Given the description of an element on the screen output the (x, y) to click on. 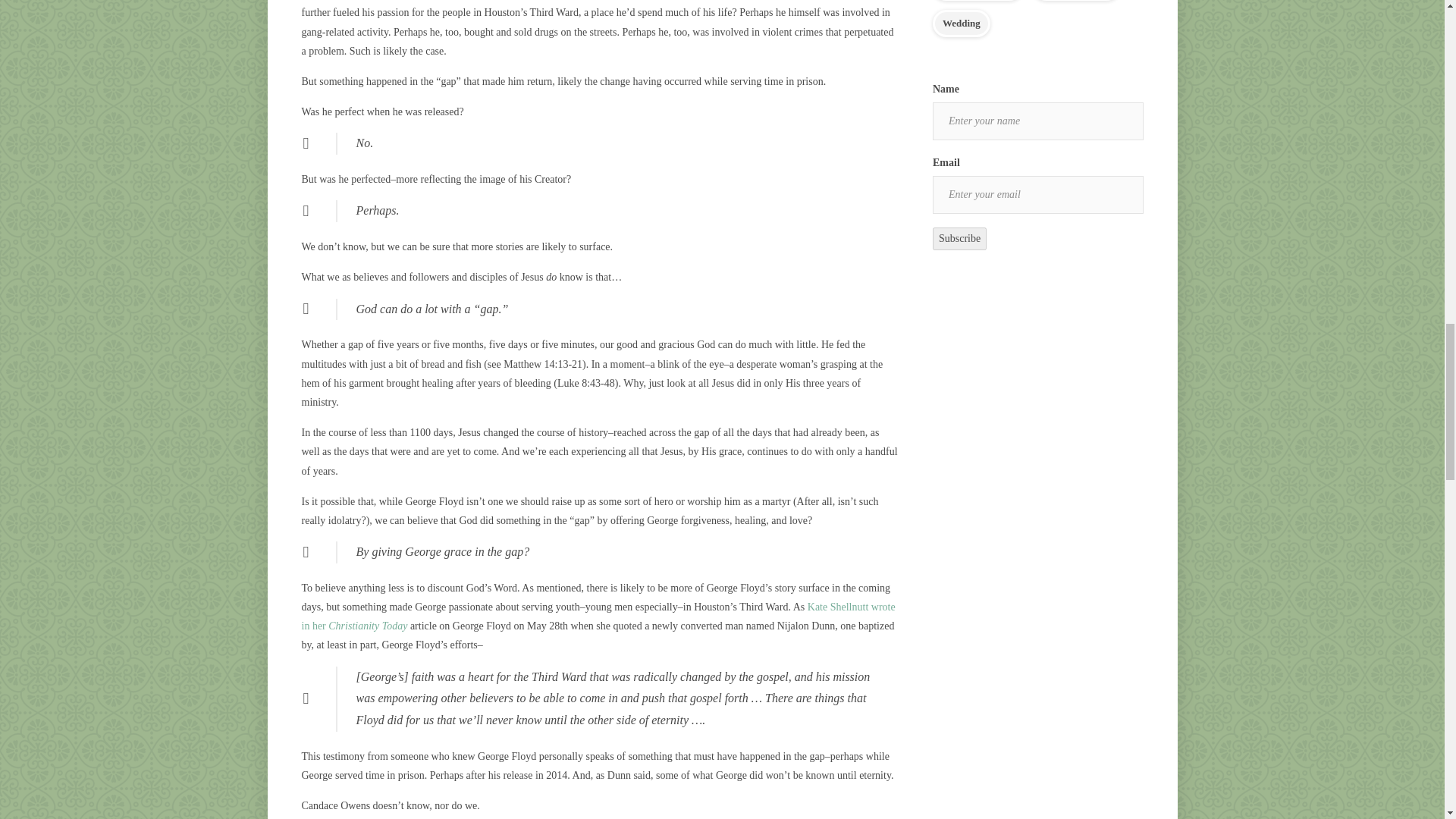
Kate Shellnutt wrote in her Christianity Today (598, 616)
Subscribe (960, 238)
